Given the description of an element on the screen output the (x, y) to click on. 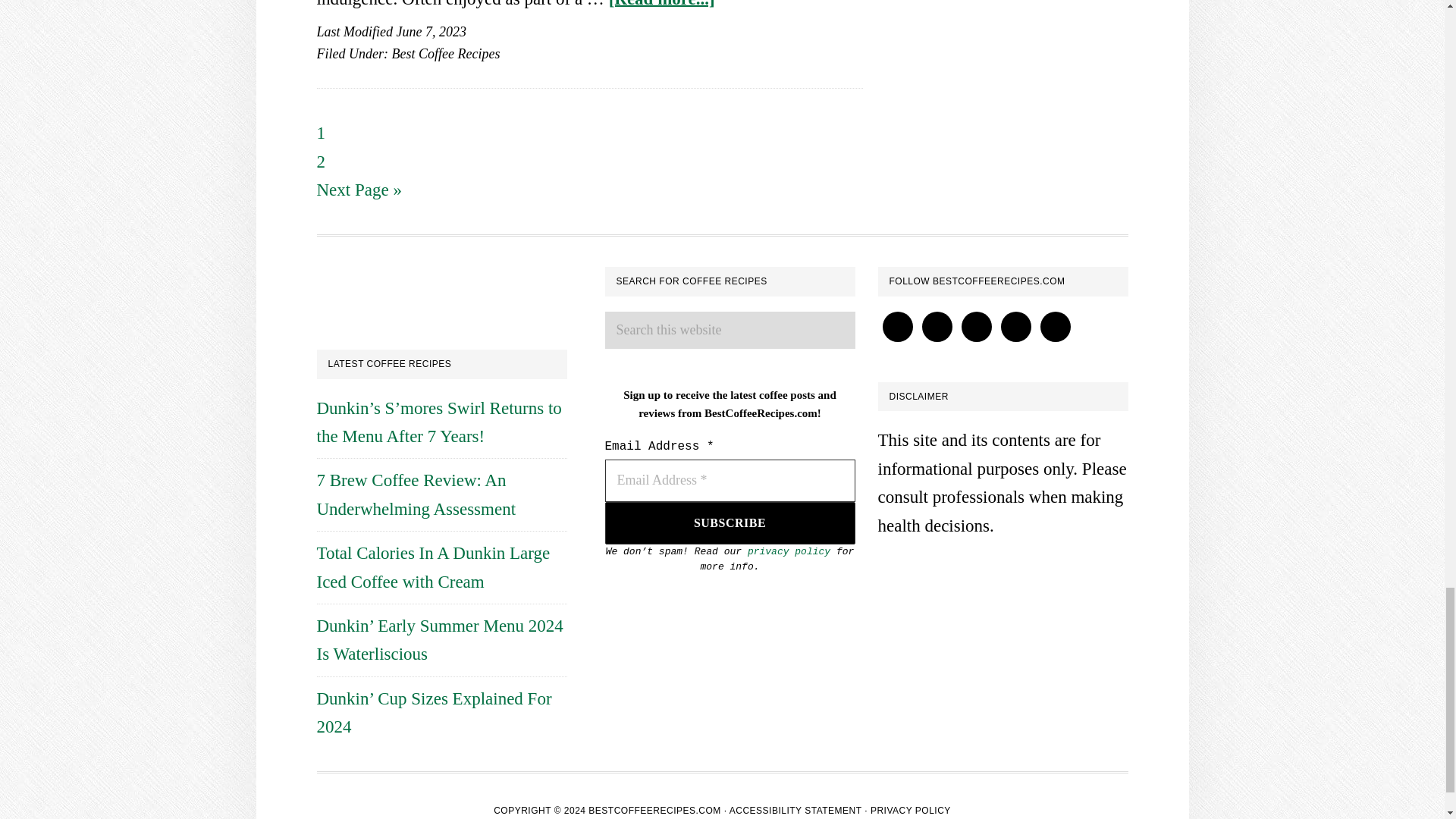
Email Address (730, 480)
Subscribe (730, 523)
